Given the description of an element on the screen output the (x, y) to click on. 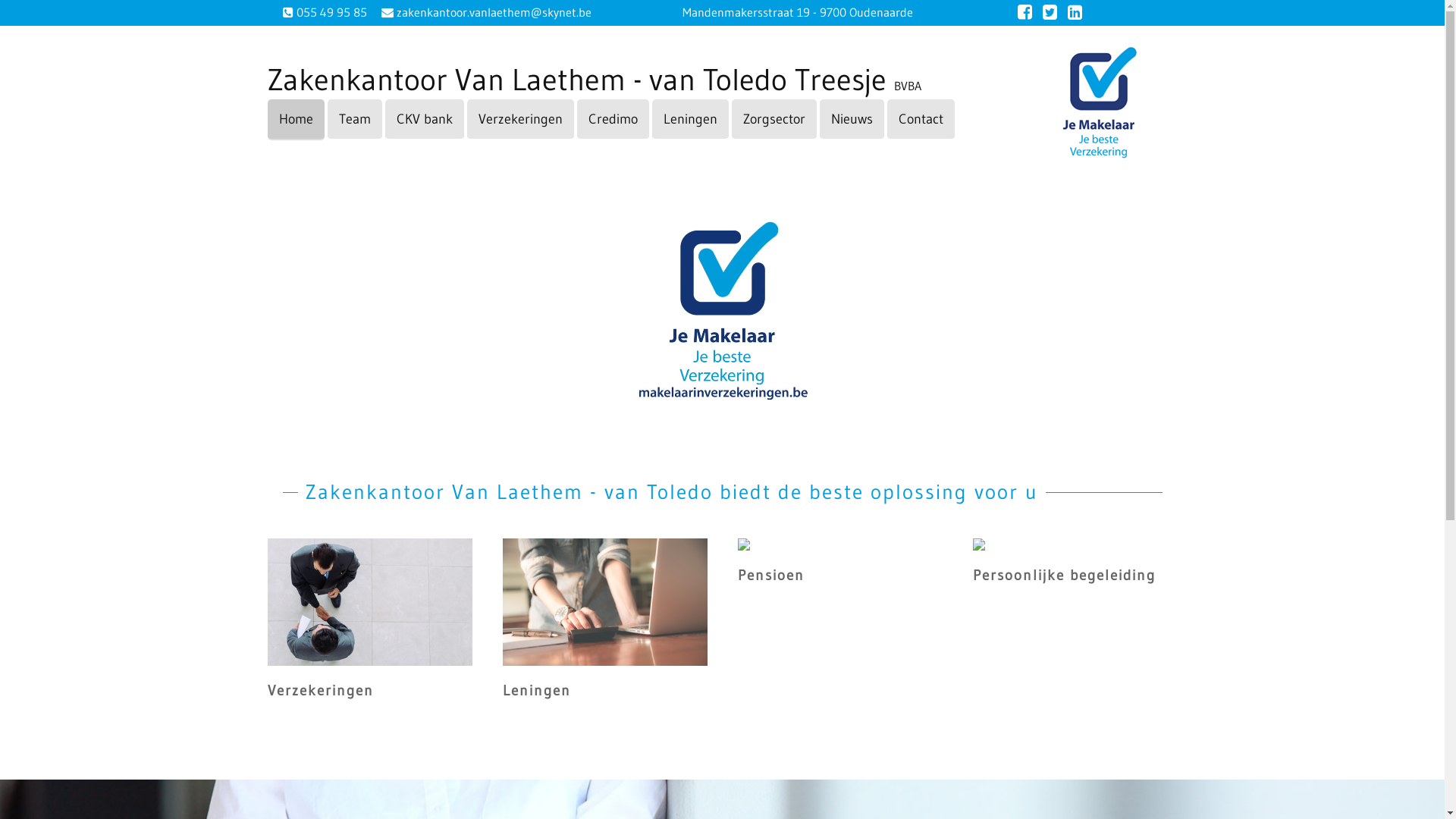
Leningen Element type: text (690, 119)
CKV bank Element type: text (424, 119)
Zorgsector Element type: text (773, 119)
zakenkantoor.vanlaethem@skynet.be Element type: text (491, 11)
Team Element type: text (354, 119)
Credimo Element type: text (612, 119)
Nieuws Element type: text (851, 119)
055 49 95 85 Element type: text (329, 11)
Contact Element type: text (920, 119)
Verzekeringen Element type: text (520, 119)
Home Element type: text (294, 119)
